Given the description of an element on the screen output the (x, y) to click on. 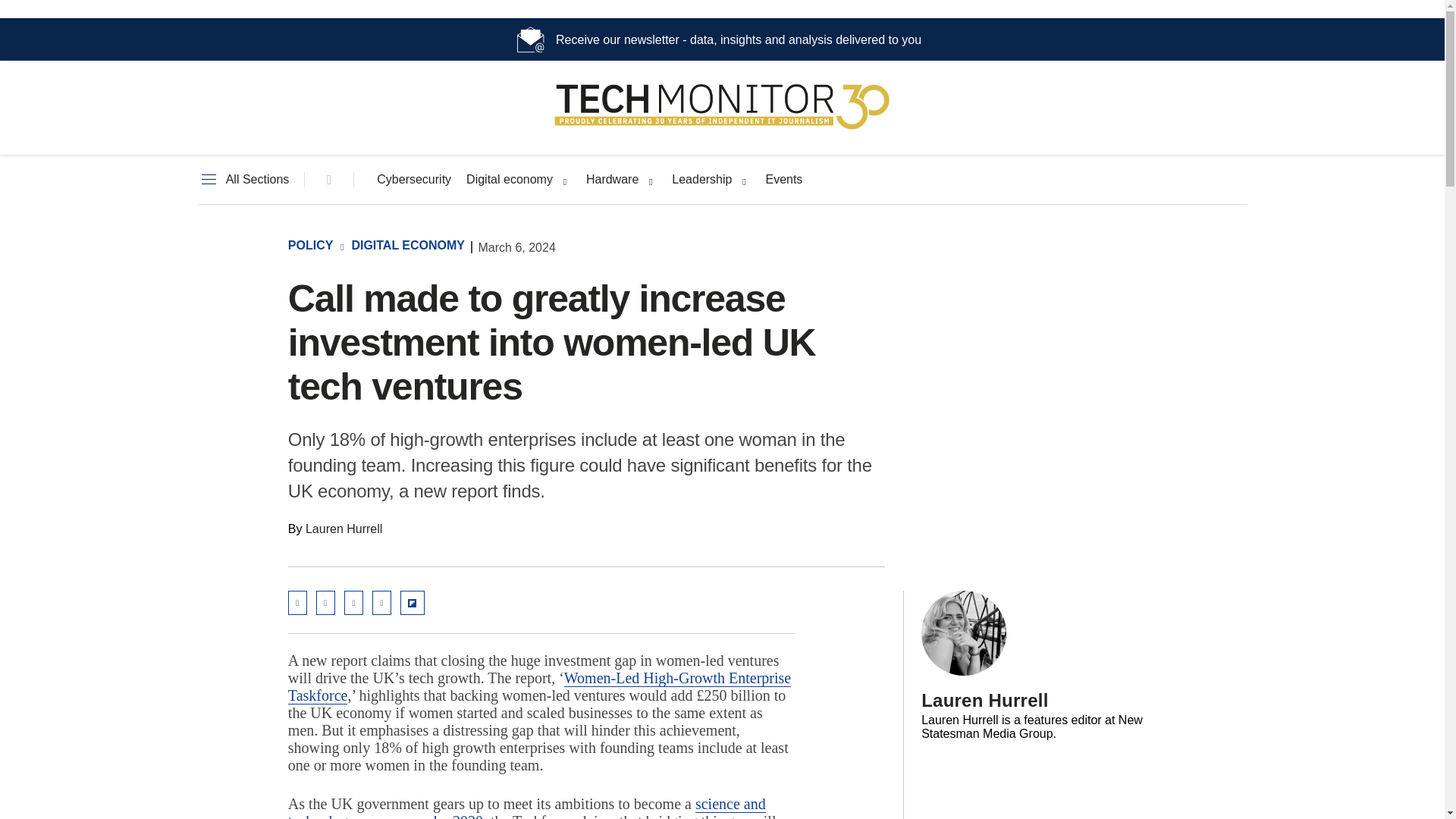
Tech Monitor (722, 128)
Share on Flipboard (412, 602)
Events (783, 179)
Cybersecurity (414, 179)
Leadership (701, 179)
Digital economy (509, 179)
Hardware (612, 179)
All Sections (242, 179)
